Given the description of an element on the screen output the (x, y) to click on. 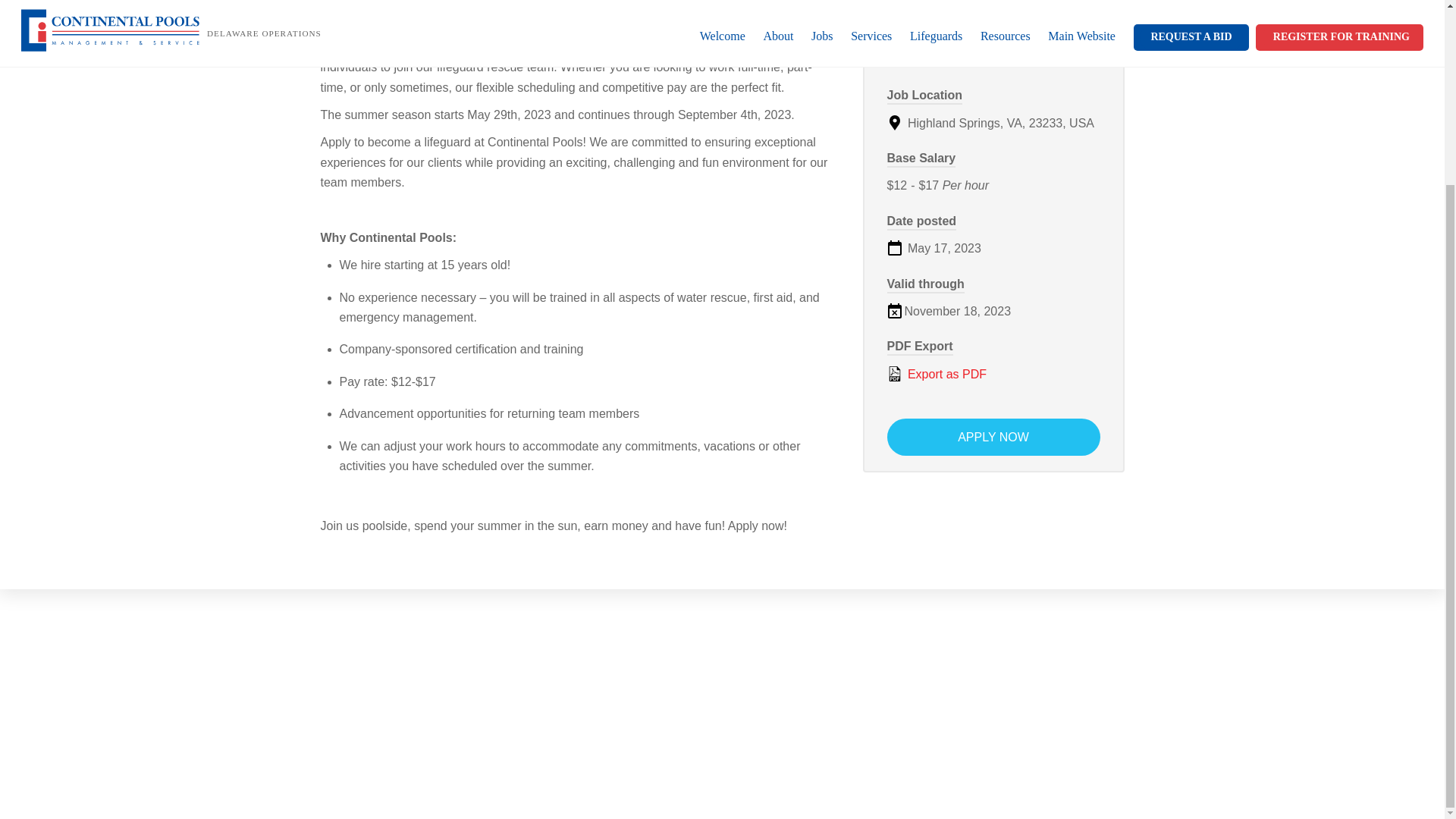
APPLY NOW (993, 436)
Export as PDF (993, 374)
